Given the description of an element on the screen output the (x, y) to click on. 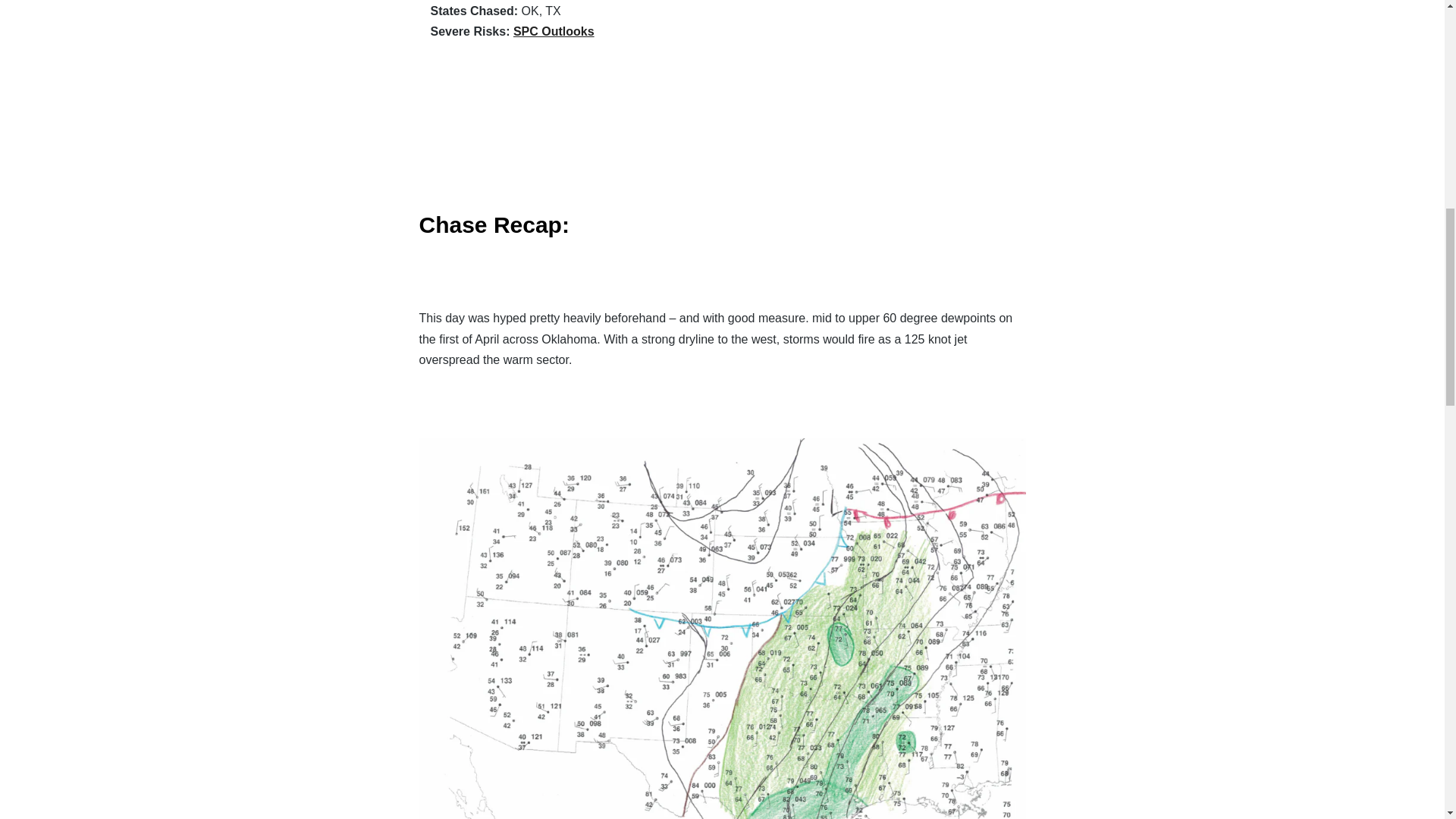
SPC Outlooks (553, 31)
